Given the description of an element on the screen output the (x, y) to click on. 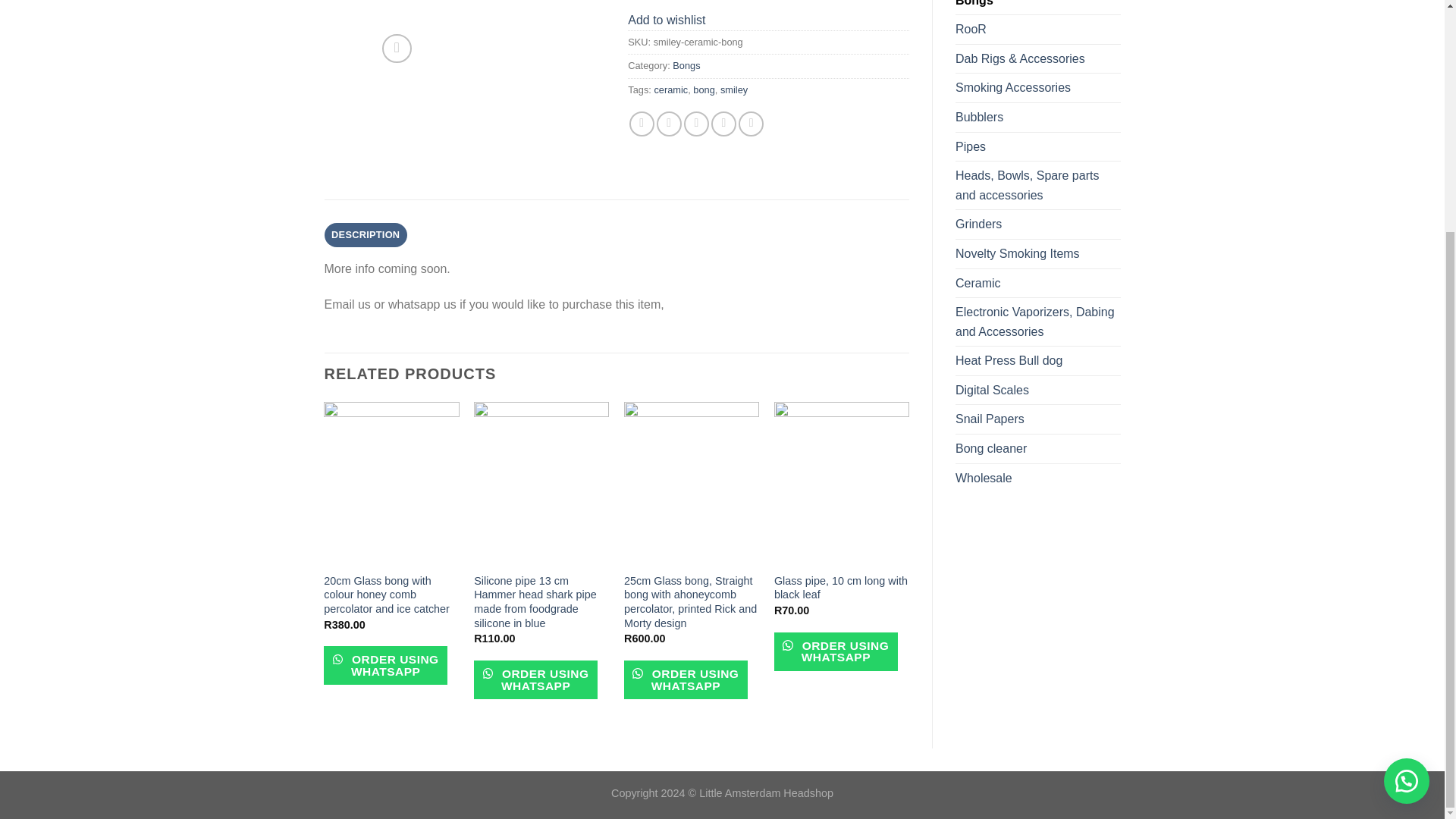
Bubblers (1038, 117)
Smoking Accessories (1038, 87)
Zoom (396, 48)
Pipes (1038, 146)
SMILEY (952, 35)
Bongs (1038, 7)
RooR (1038, 29)
SMILEY2 (721, 35)
